Given the description of an element on the screen output the (x, y) to click on. 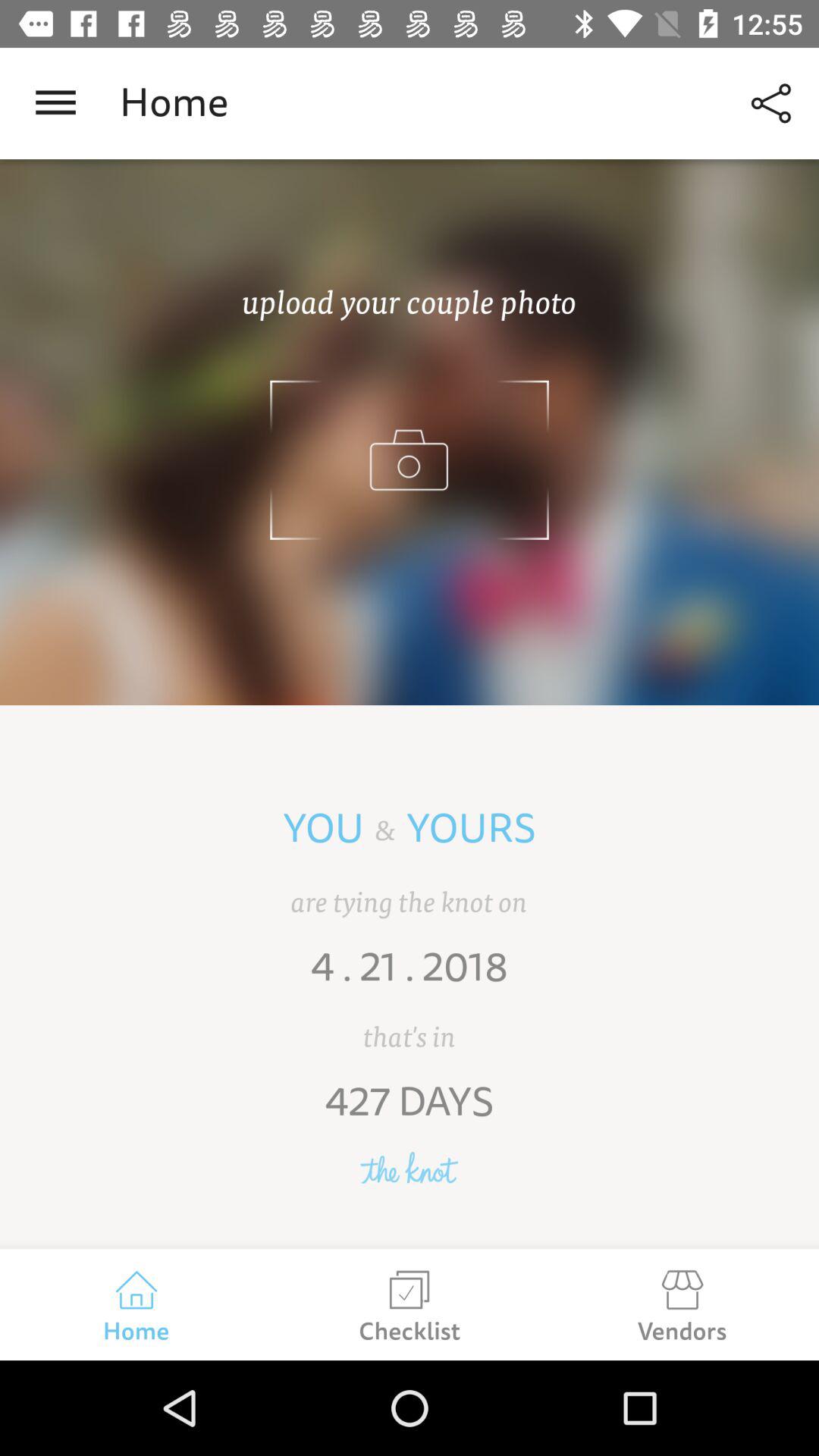
click the icon to the left of home icon (55, 103)
